Given the description of an element on the screen output the (x, y) to click on. 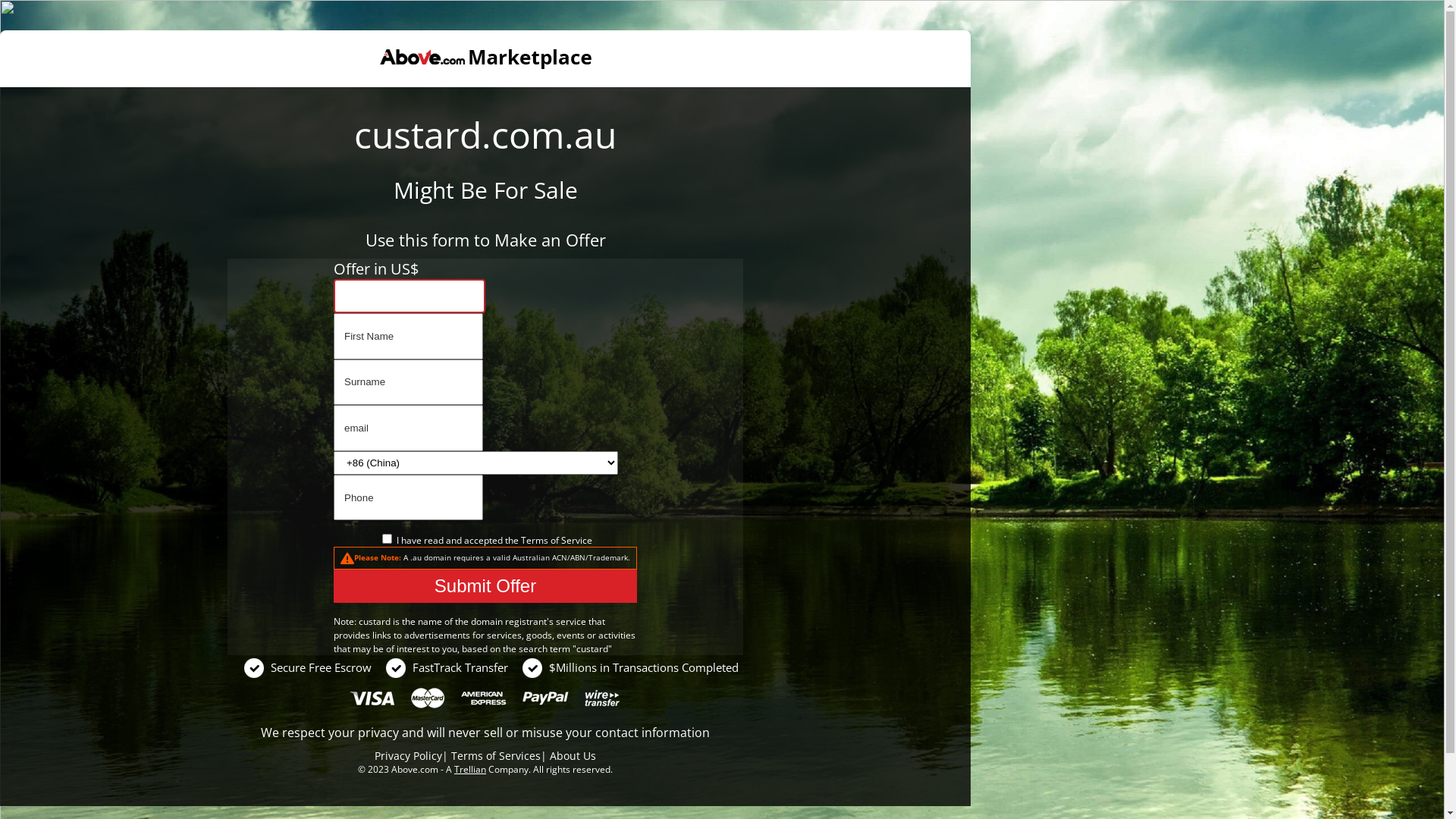
About Us Element type: text (572, 755)
Terms Element type: text (533, 539)
Trellian Element type: text (470, 768)
Submit Offer Element type: text (485, 585)
Terms of Services Element type: text (495, 755)
Privacy Policy Element type: text (408, 755)
